Given the description of an element on the screen output the (x, y) to click on. 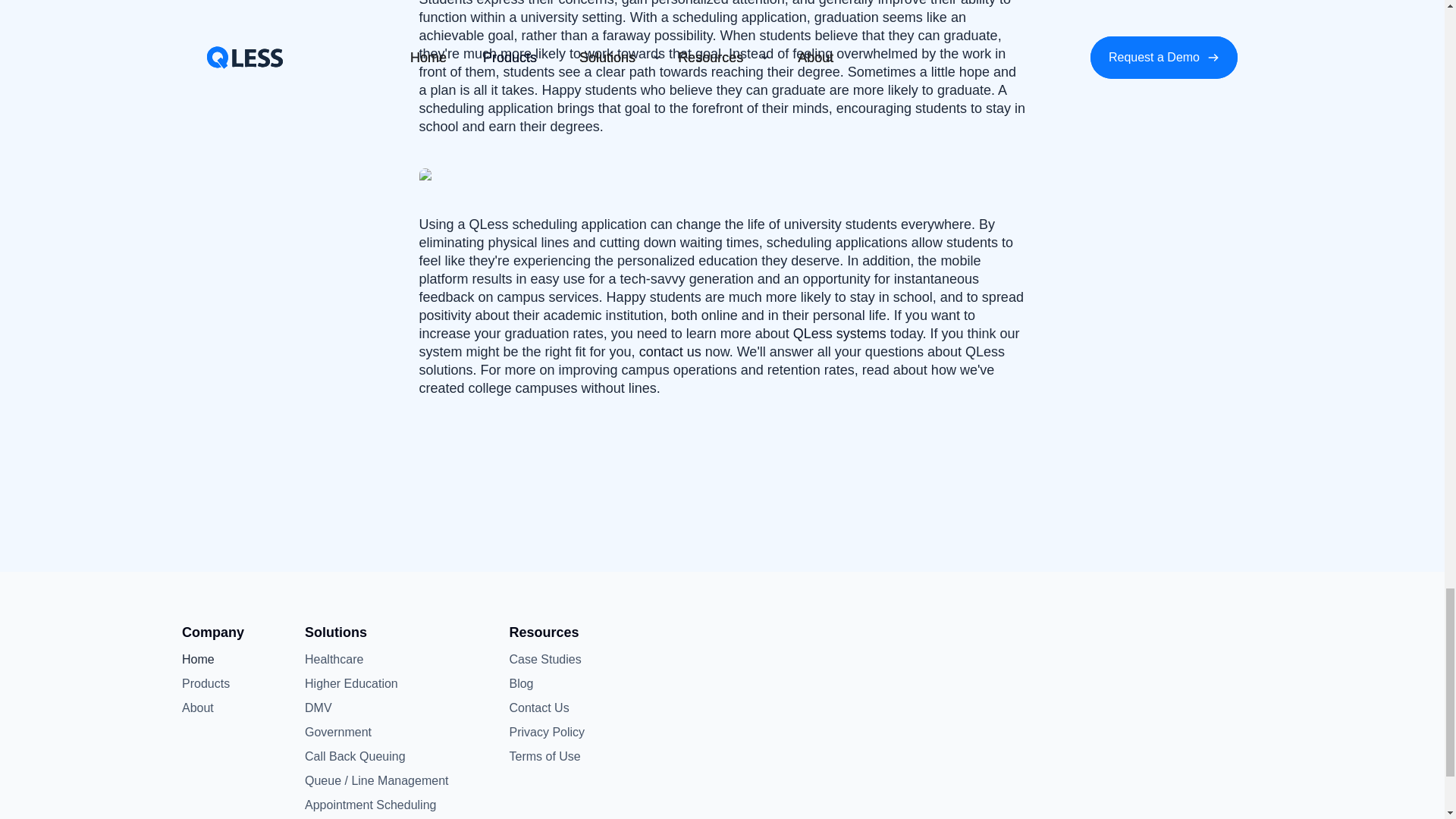
Privacy Policy (546, 732)
DMV (317, 708)
Contact Us (544, 708)
Healthcare (333, 659)
contact us (670, 351)
QLess systems (839, 333)
Higher Education (350, 683)
Blog (544, 683)
Call Back Queuing (355, 756)
Products (206, 683)
